Given the description of an element on the screen output the (x, y) to click on. 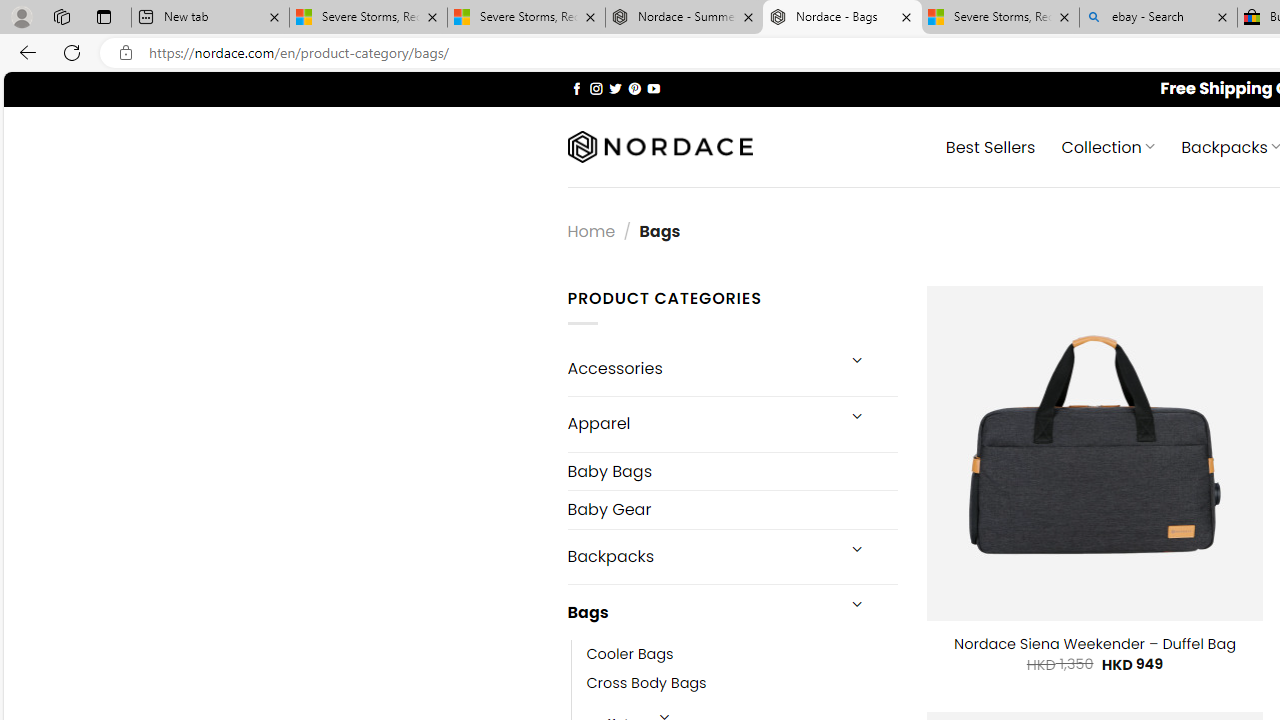
Bags (700, 613)
Baby Gear (732, 509)
Nordace - Bags (842, 17)
Cross Body Bags (742, 683)
  Best Sellers (989, 146)
